Given the description of an element on the screen output the (x, y) to click on. 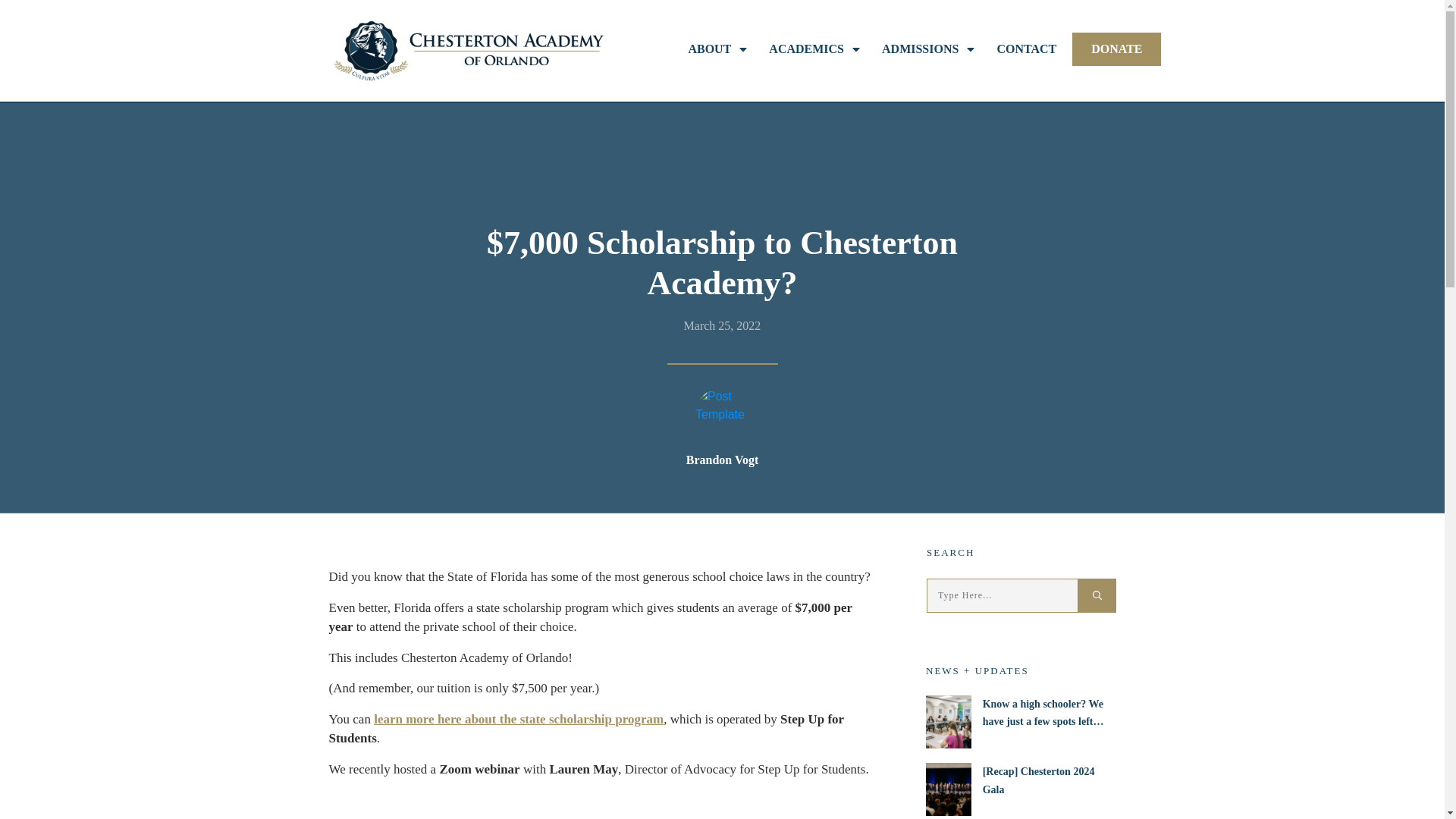
Post Template (722, 414)
ACADEMICS (814, 49)
CONTACT (1026, 49)
ADMISSIONS (929, 49)
ABOUT (718, 49)
DONATE (1115, 49)
Responsive Video (604, 811)
learn more here about the state scholarship program (518, 718)
